Given the description of an element on the screen output the (x, y) to click on. 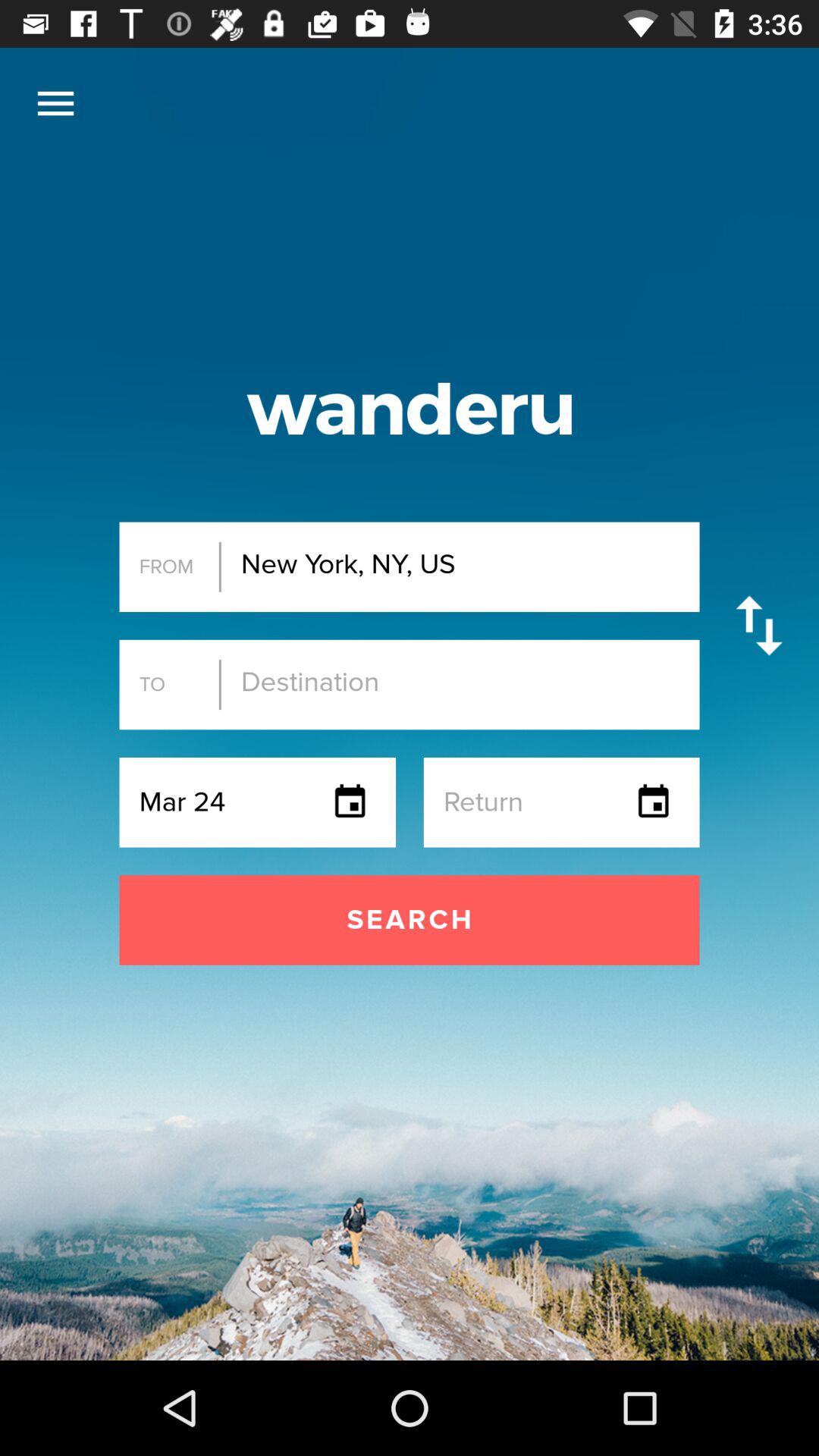
turn off the icon to the right of new york ny icon (759, 625)
